Given the description of an element on the screen output the (x, y) to click on. 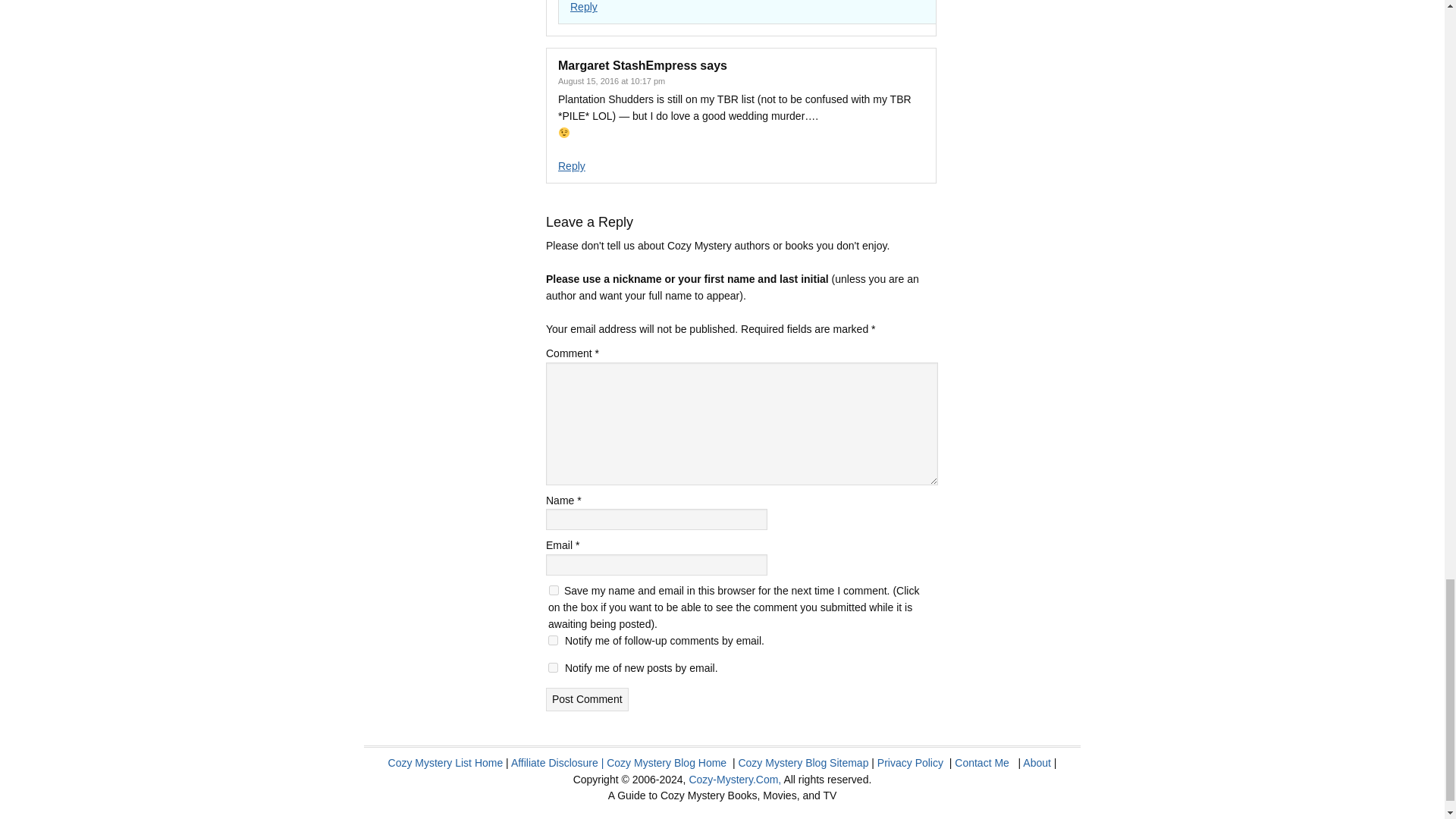
Post Comment (587, 699)
subscribe (552, 640)
Reply (583, 6)
August 15, 2016 at 10:17 pm (611, 80)
subscribe (552, 667)
yes (553, 590)
Reply (571, 165)
